Given the description of an element on the screen output the (x, y) to click on. 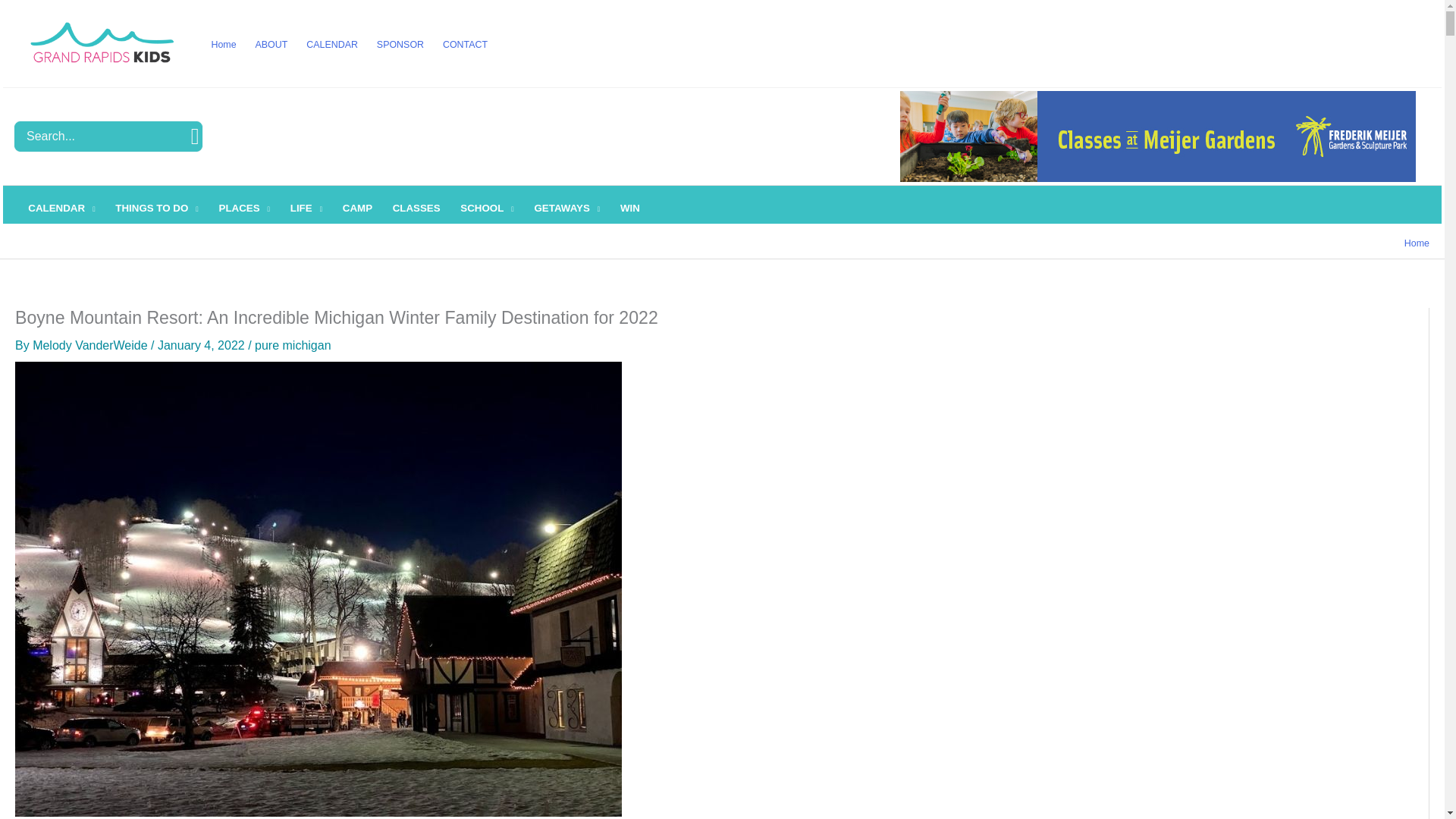
CALENDAR (332, 44)
View all posts by Melody VanderWeide (91, 345)
THINGS TO DO (156, 207)
SPONSOR (399, 44)
CALENDAR (60, 207)
Home (224, 44)
ABOUT (271, 44)
CONTACT (464, 44)
